Given the description of an element on the screen output the (x, y) to click on. 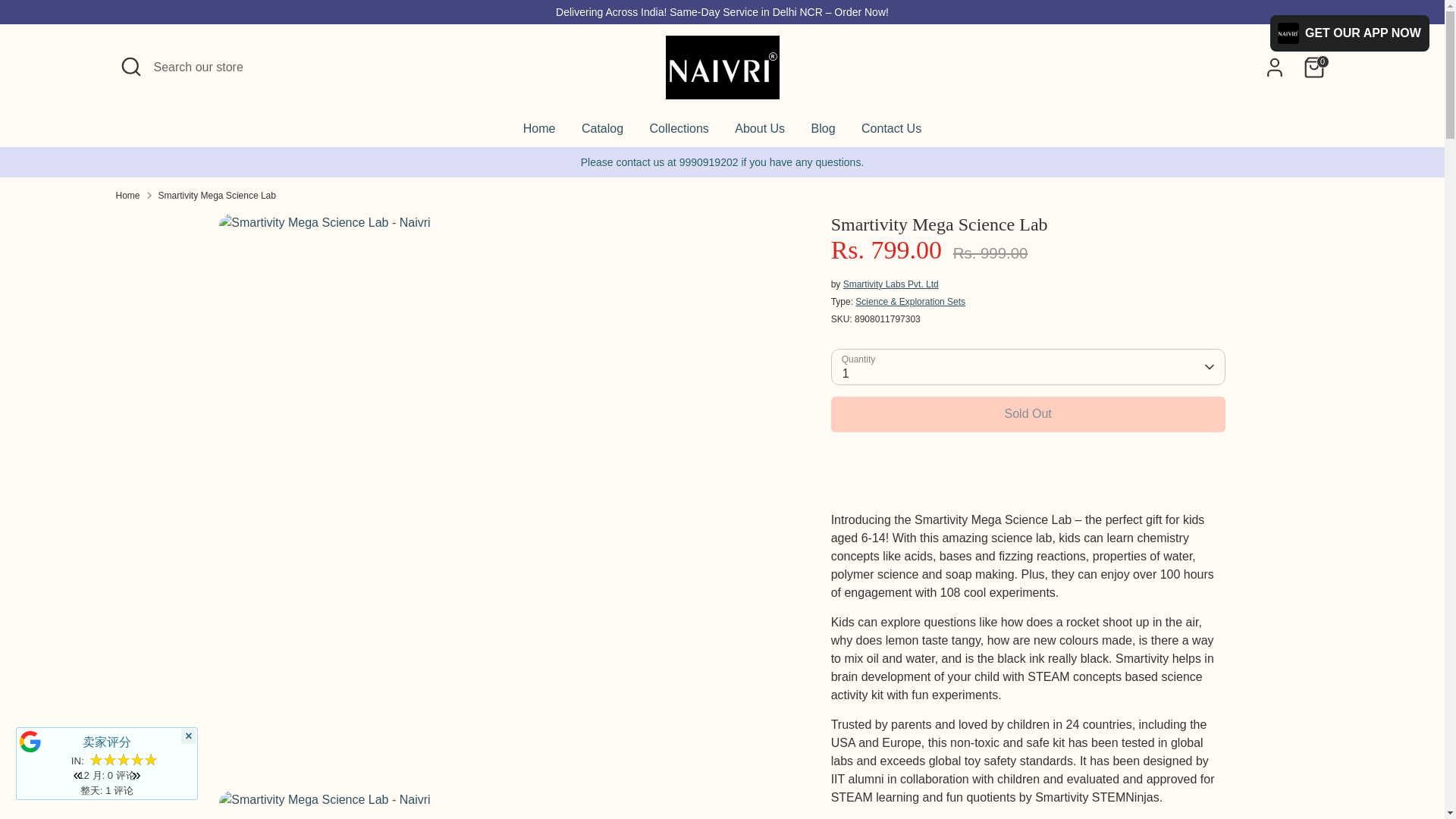
Please contact us at 9990919202 if you have any questions. (722, 162)
Home (539, 133)
Contact Us (891, 133)
About Us (759, 133)
Smartivity Mega Science Lab (217, 194)
Collections (679, 133)
Home (127, 194)
Catalog (602, 133)
0 (1312, 67)
Blog (823, 133)
